Given the description of an element on the screen output the (x, y) to click on. 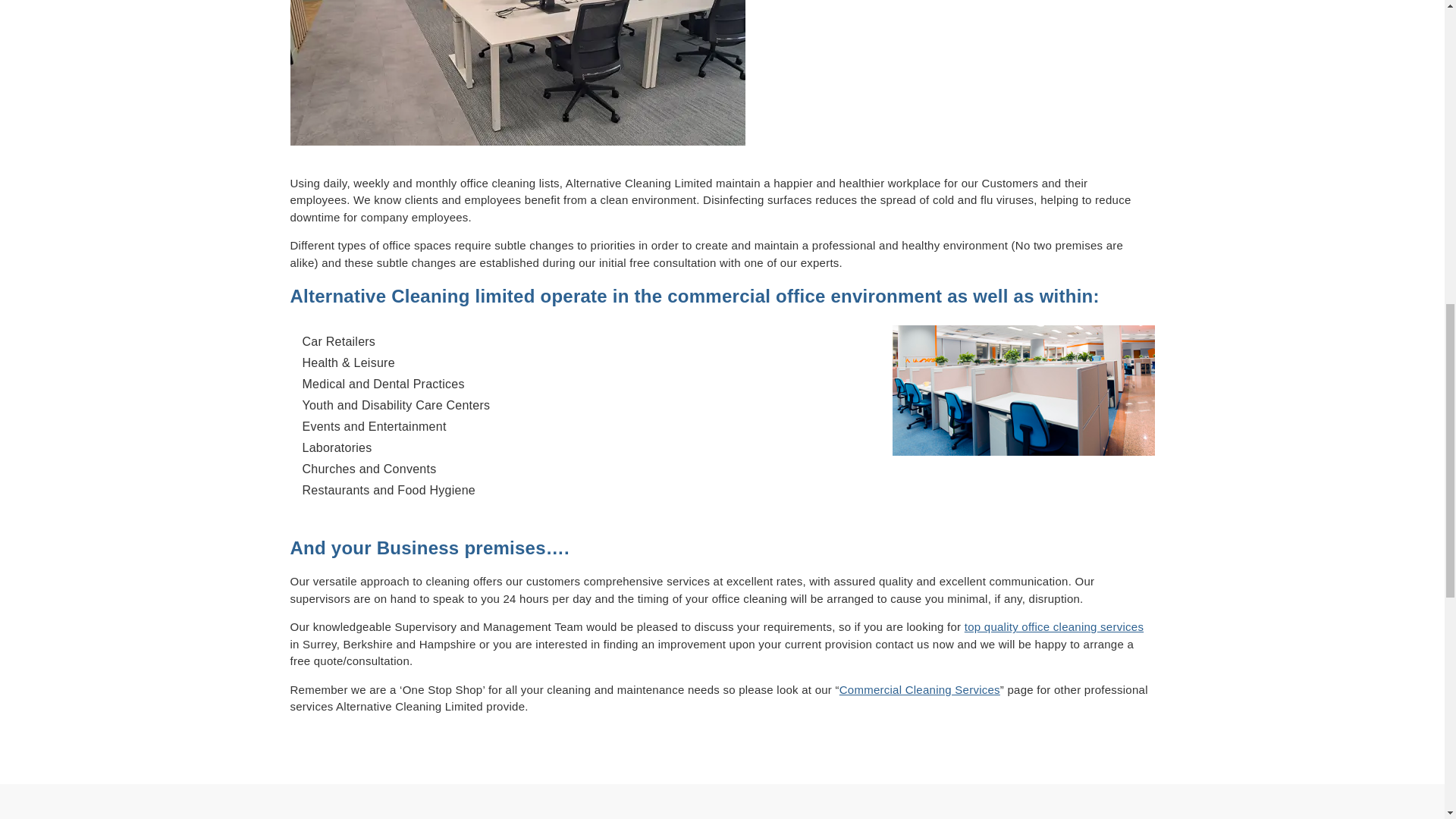
Commercial Cleaning Services (920, 689)
top quality office cleaning services (1052, 626)
Commercial Cleaning Services (920, 689)
